Given the description of an element on the screen output the (x, y) to click on. 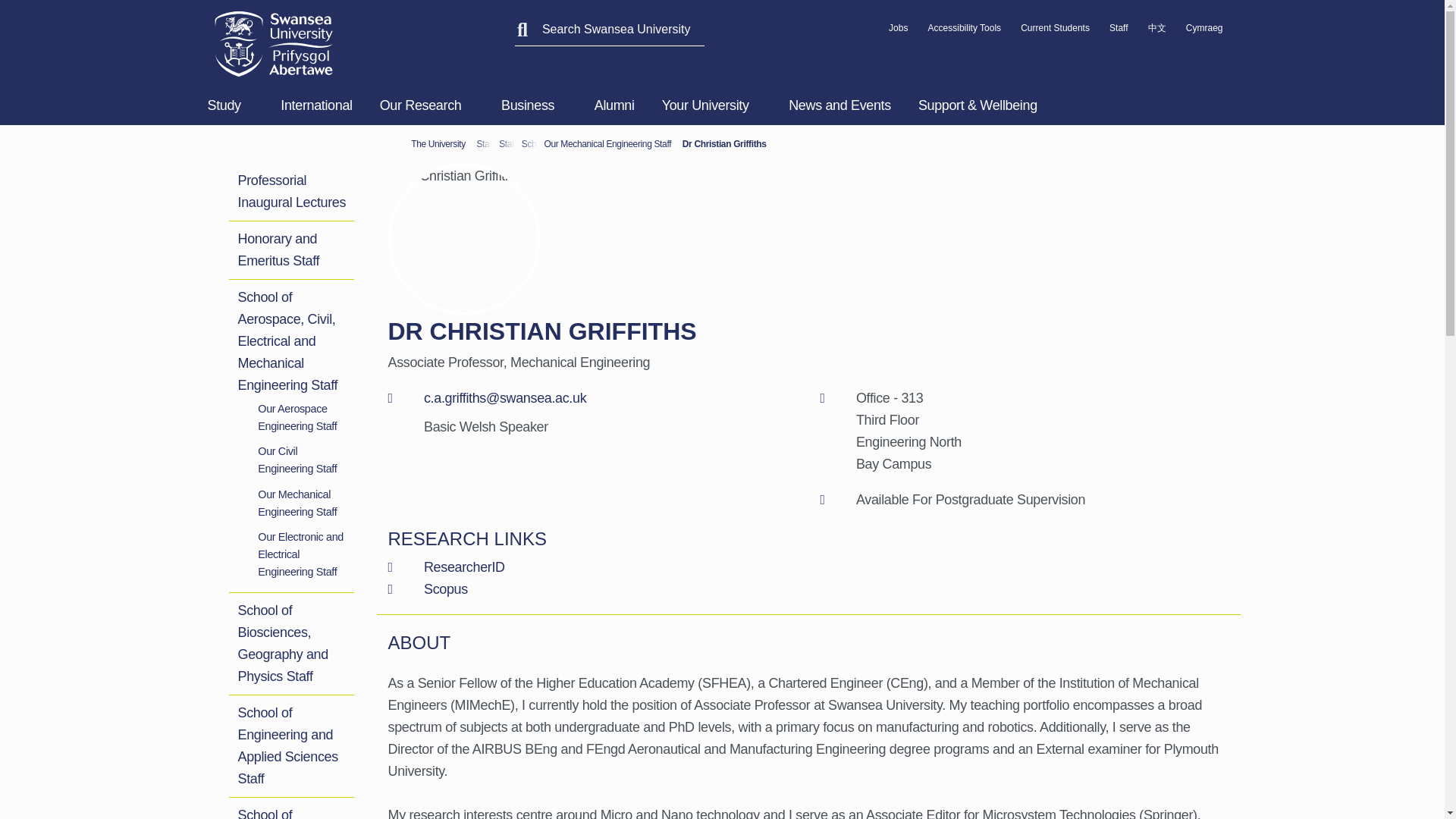
Staff (1117, 31)
Current Students (1054, 31)
Cymraeg (1204, 31)
Jobs at Swansea University (897, 31)
Jobs (897, 31)
Accessibility Tools (964, 31)
Accessibility Tools (964, 31)
Study (234, 105)
